Given the description of an element on the screen output the (x, y) to click on. 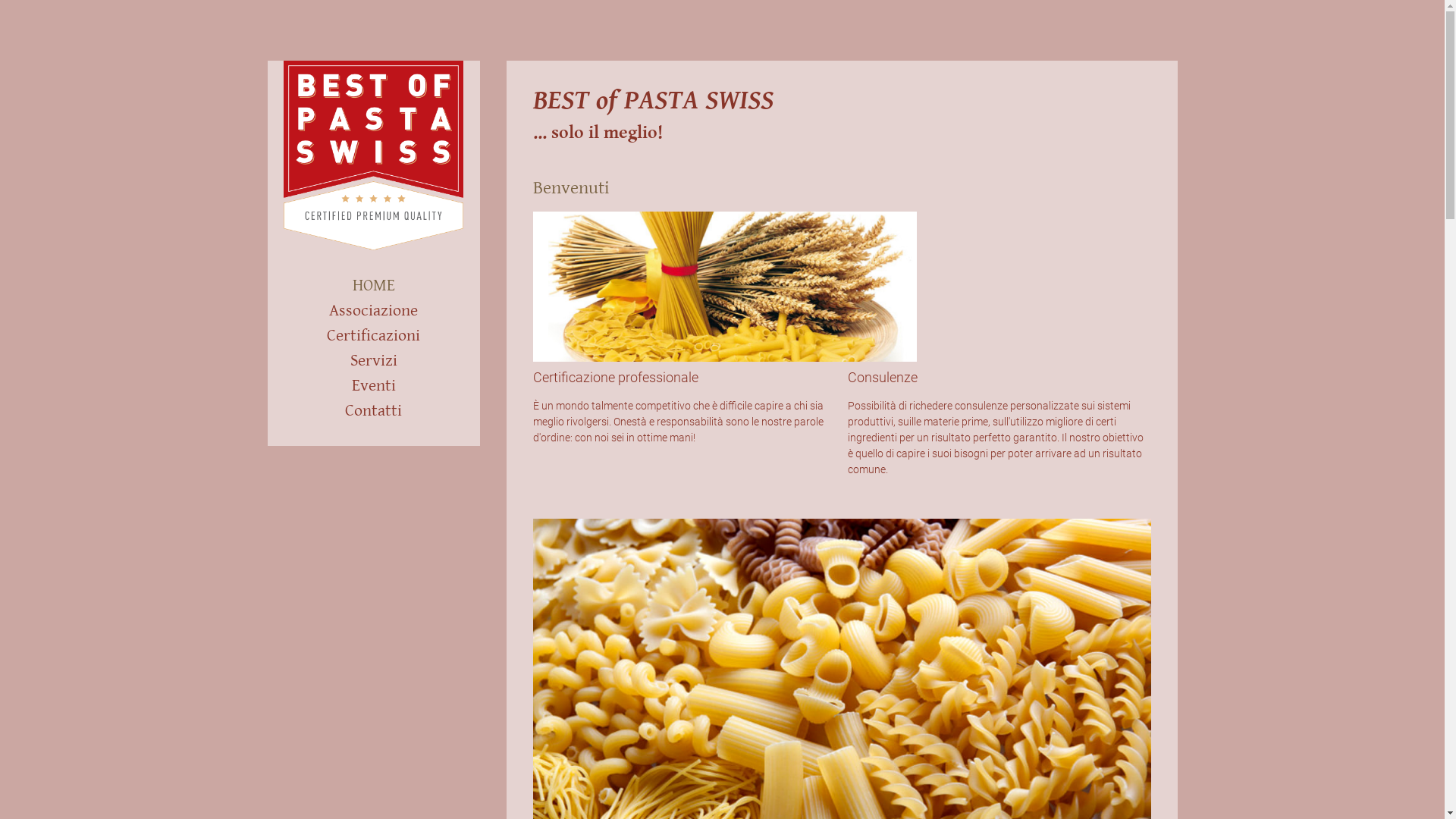
HOME Element type: text (372, 285)
Eventi Element type: text (372, 385)
Certificazioni Element type: text (372, 335)
Servizi Element type: text (372, 360)
Associazione Element type: text (372, 310)
Contatti Element type: text (372, 410)
